Given the description of an element on the screen output the (x, y) to click on. 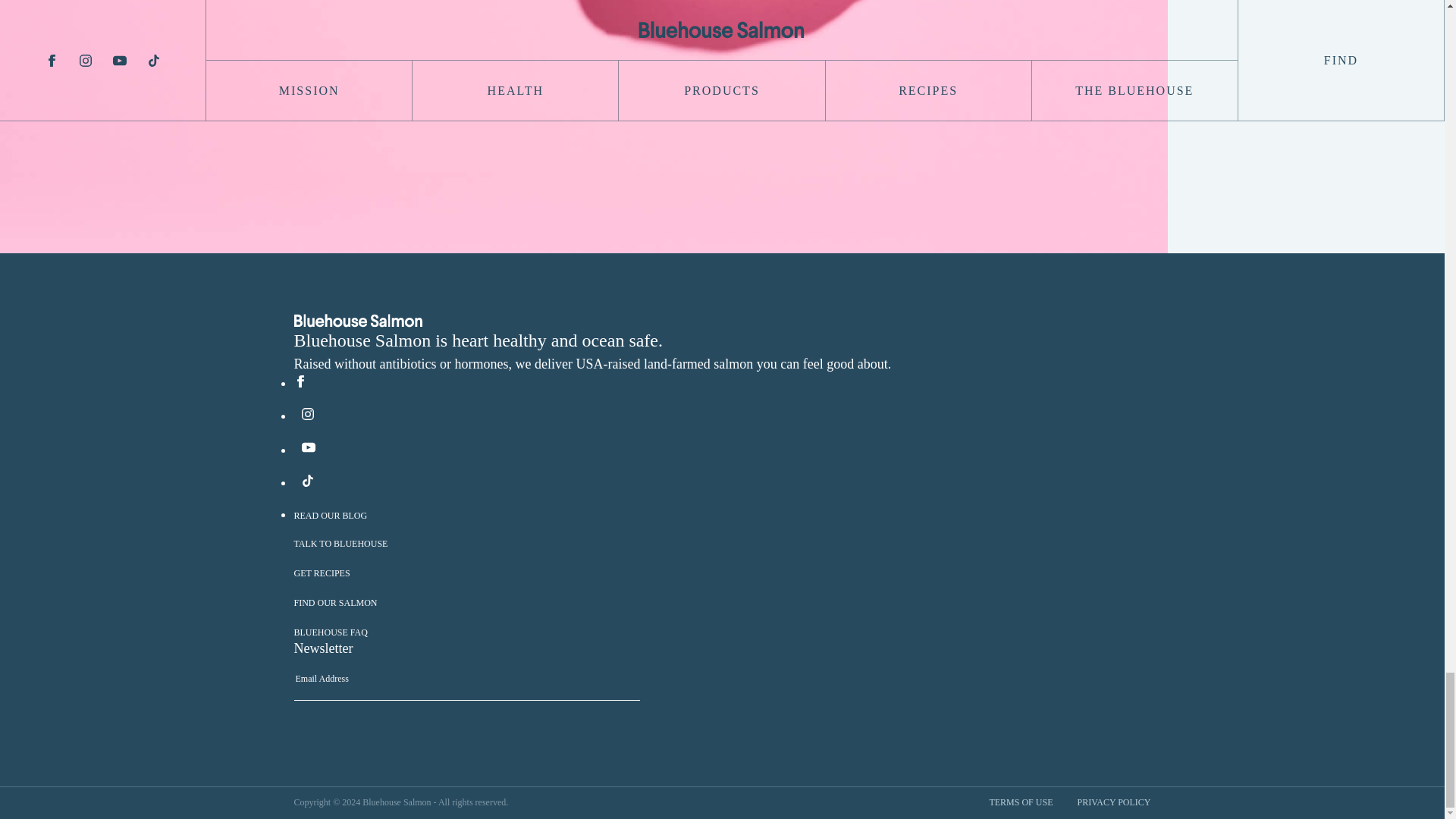
BLUEHOUSE FAQ (331, 632)
GET RECIPES (322, 573)
TALK TO BLUEHOUSE (341, 543)
FIND OUR SALMON (335, 602)
PRIVACY POLICY (1113, 802)
TERMS OF USE (1020, 802)
